Given the description of an element on the screen output the (x, y) to click on. 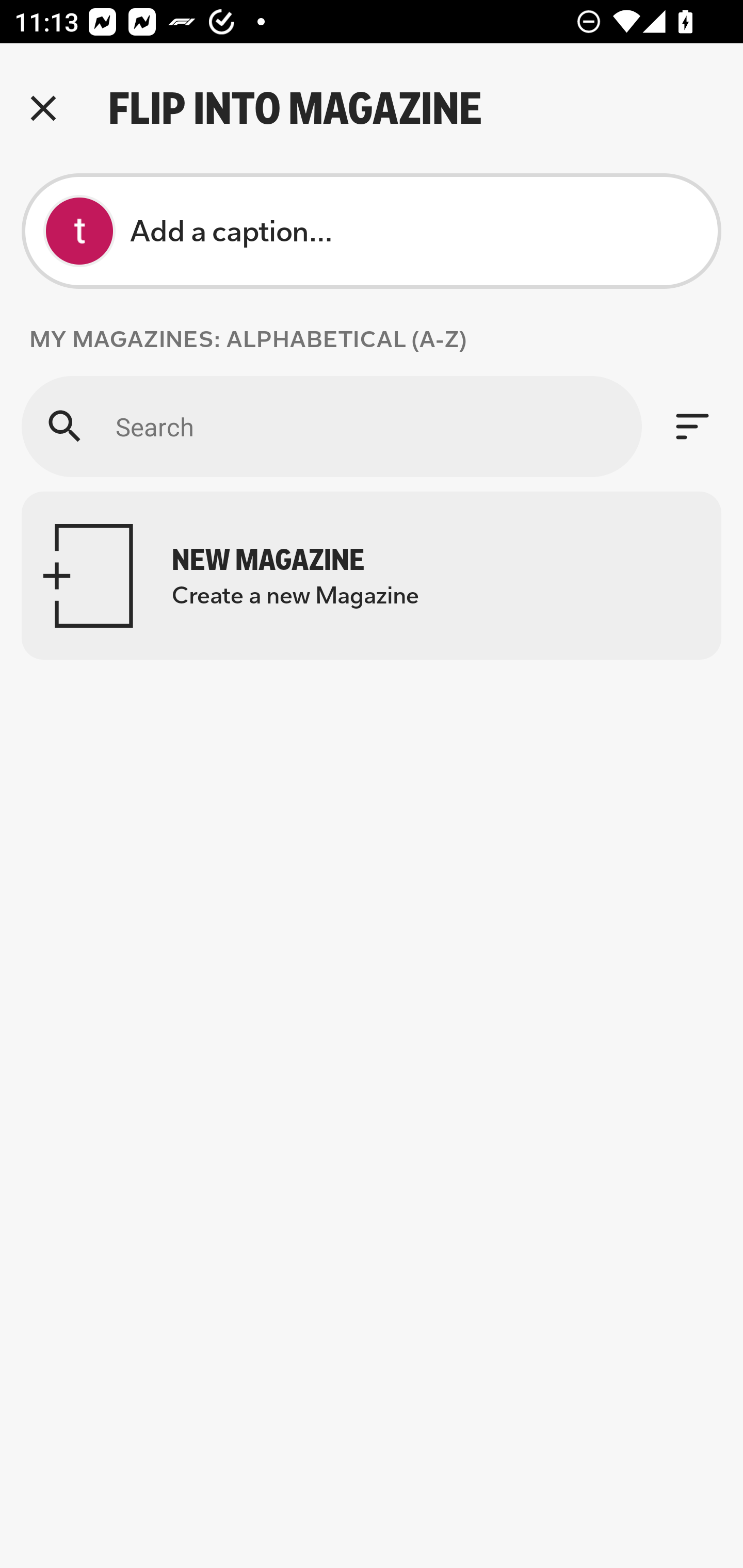
test appium Add a caption… (371, 231)
Search (331, 426)
NEW MAGAZINE Create a new Magazine (371, 575)
